Given the description of an element on the screen output the (x, y) to click on. 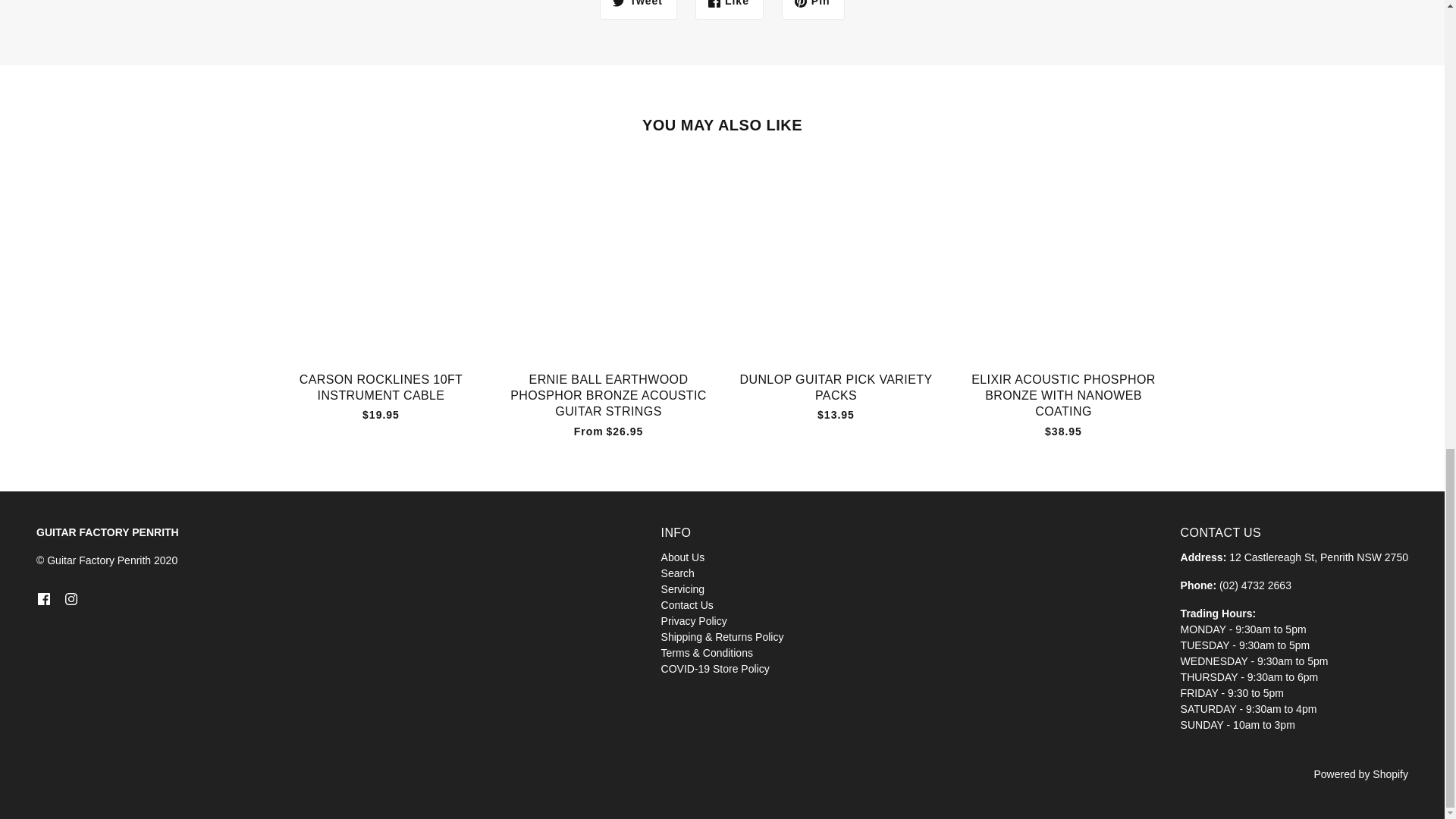
Privacy Policy (693, 621)
Contact Us (687, 604)
About Us (682, 557)
Search (677, 573)
Servicing (682, 589)
COVID-19 Store Policy (715, 668)
